Given the description of an element on the screen output the (x, y) to click on. 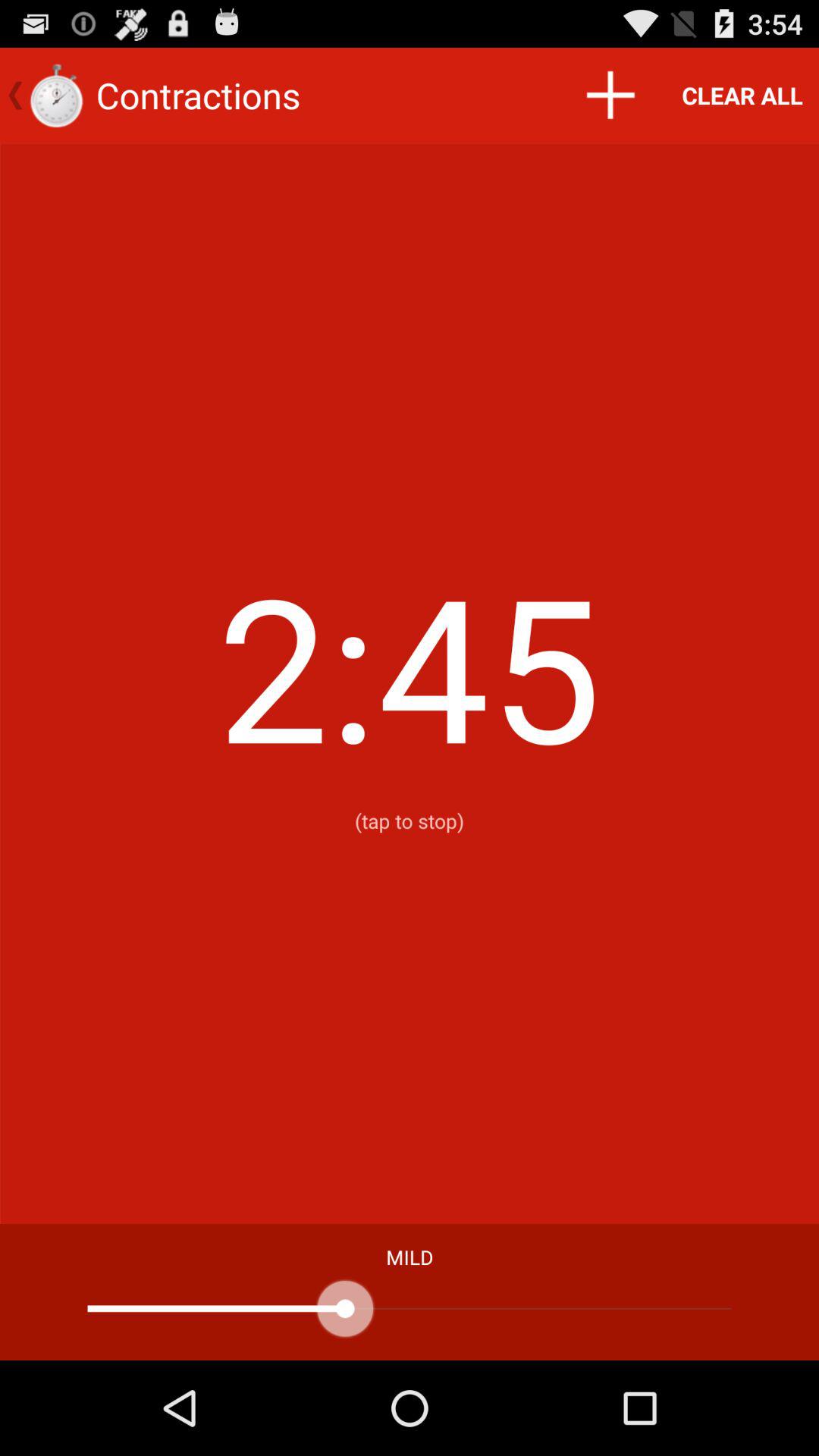
launch item above the 5 (610, 95)
